Given the description of an element on the screen output the (x, y) to click on. 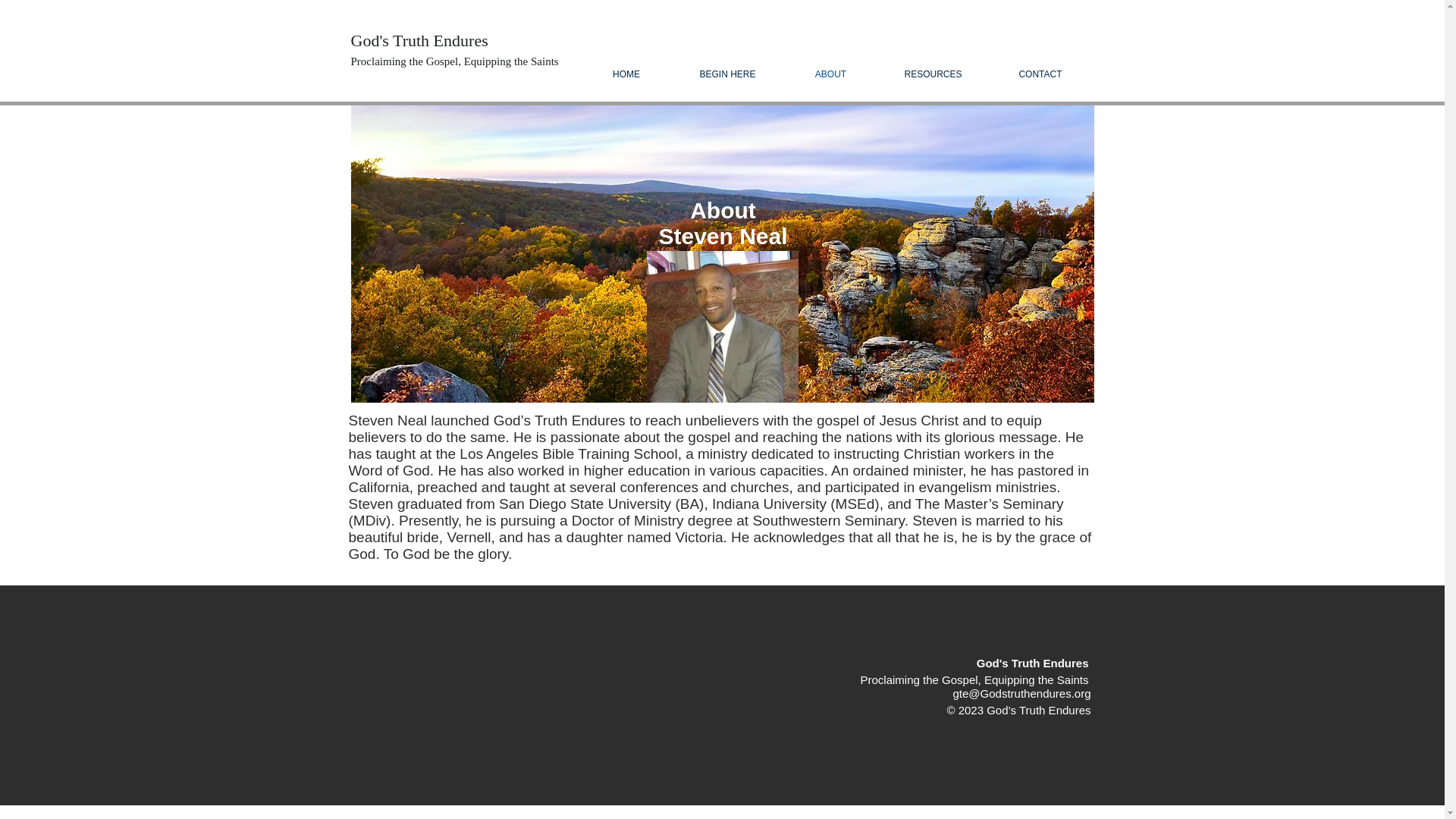
CONTACT (1039, 74)
Proclaiming the Gospel, Equipping the Saints (453, 61)
RESOURCES (932, 74)
God's Truth Endures (418, 40)
ABOUT (830, 74)
BEGIN HERE (726, 74)
HOME (626, 74)
